Given the description of an element on the screen output the (x, y) to click on. 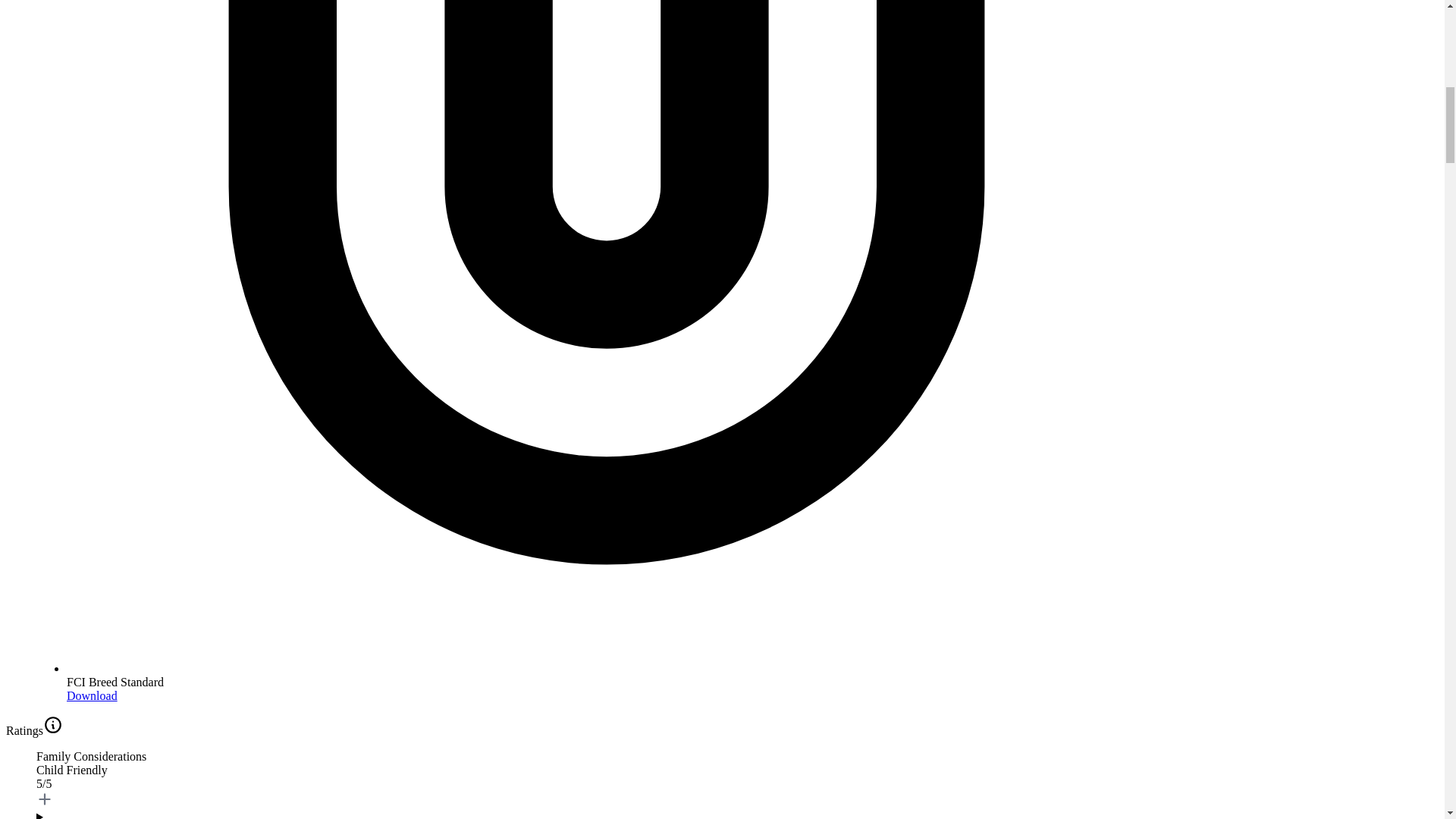
Download (91, 695)
